Given the description of an element on the screen output the (x, y) to click on. 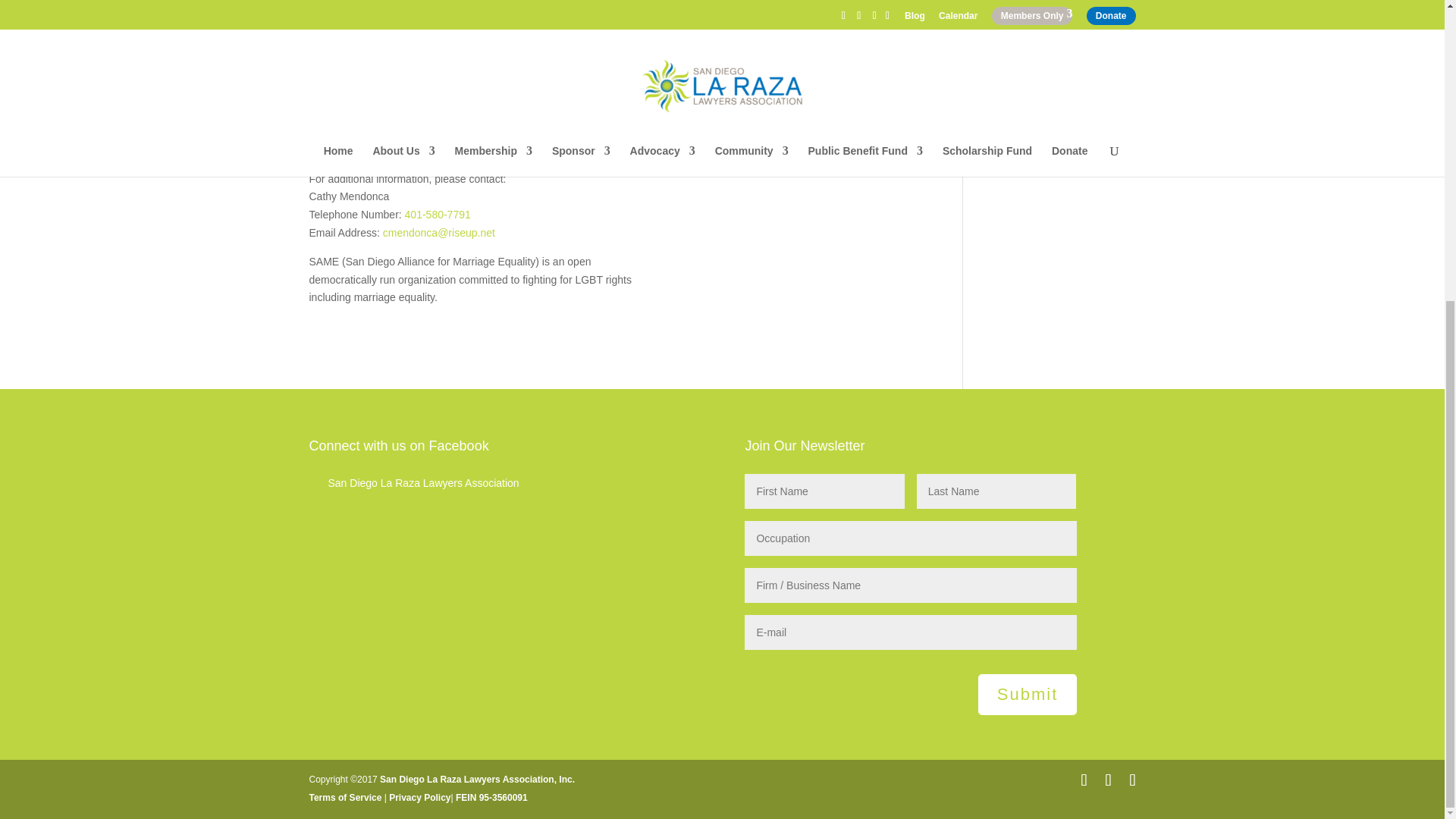
Submit (1027, 694)
